Given the description of an element on the screen output the (x, y) to click on. 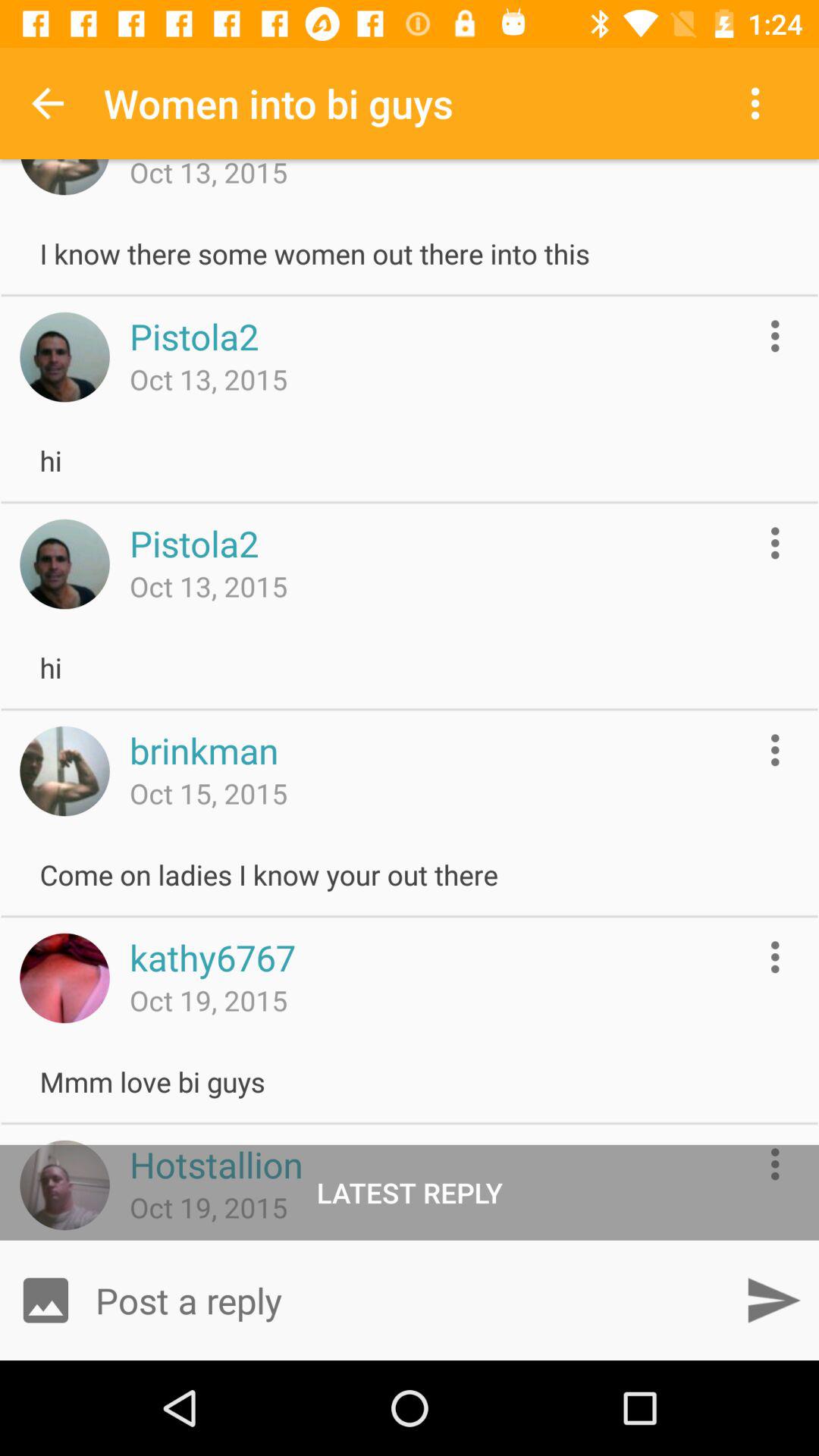
more options (775, 543)
